Given the description of an element on the screen output the (x, y) to click on. 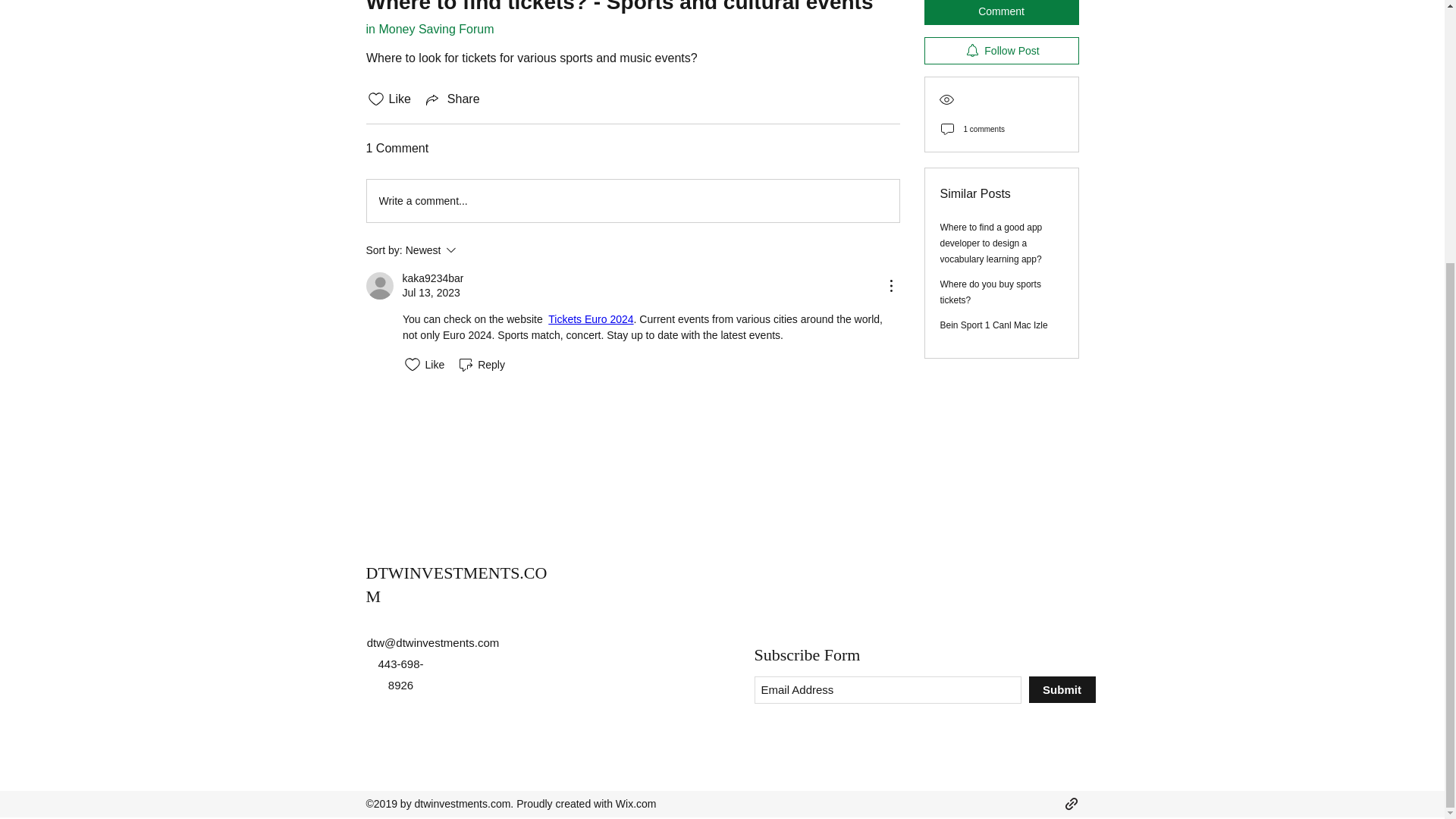
Follow Post (1000, 4)
Where do you buy sports tickets? (990, 237)
Submit (1060, 689)
Reply (481, 364)
Bein Sport 1 Canl Mac Izle (994, 270)
Write a comment... (632, 200)
Tickets Euro 2024 (471, 249)
Share (590, 318)
in Money Saving Forum (451, 99)
kaka9234bar (429, 29)
